Given the description of an element on the screen output the (x, y) to click on. 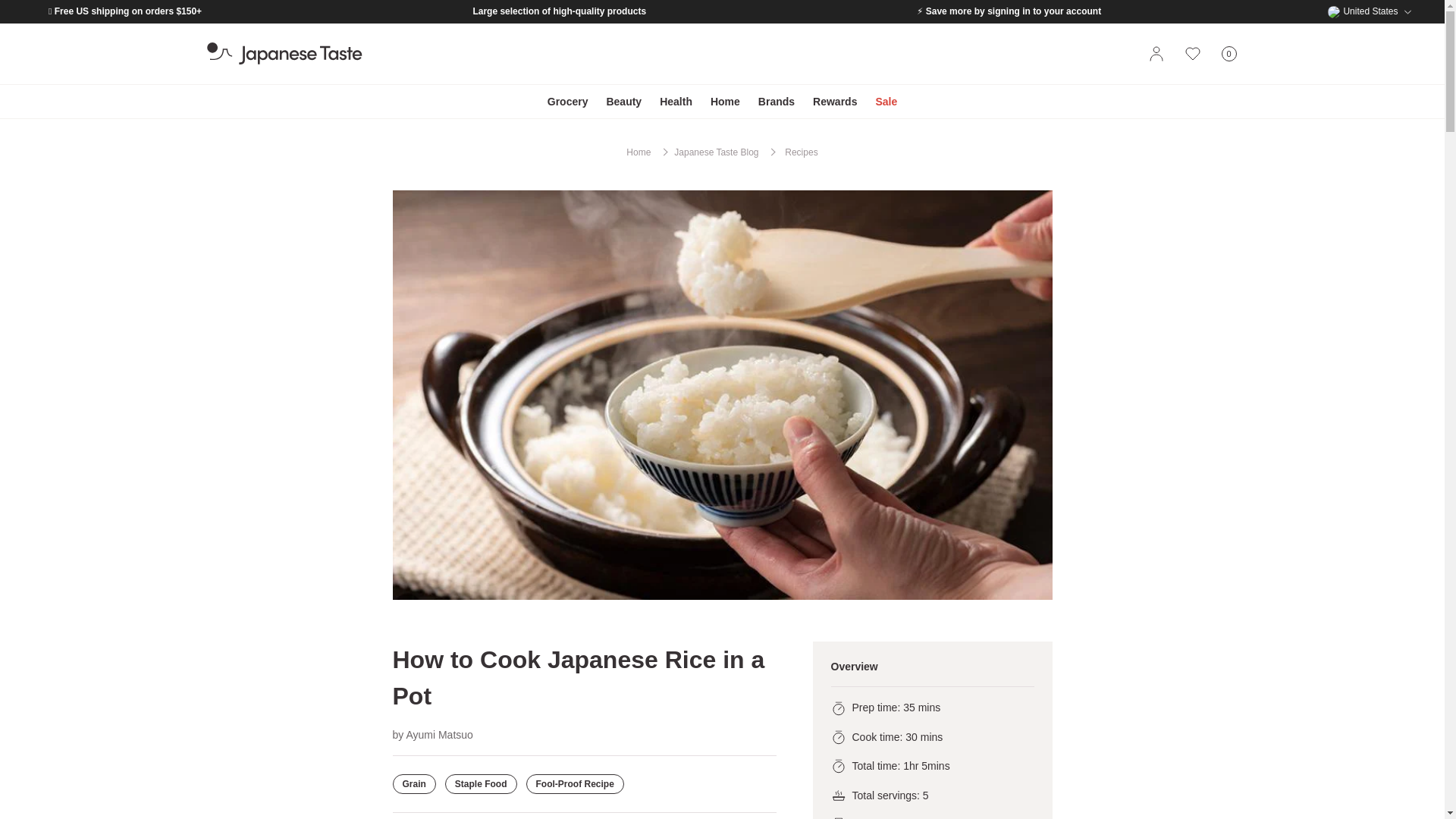
Japanese Taste (283, 53)
United States (1228, 54)
Grocery (1369, 11)
